Given the description of an element on the screen output the (x, y) to click on. 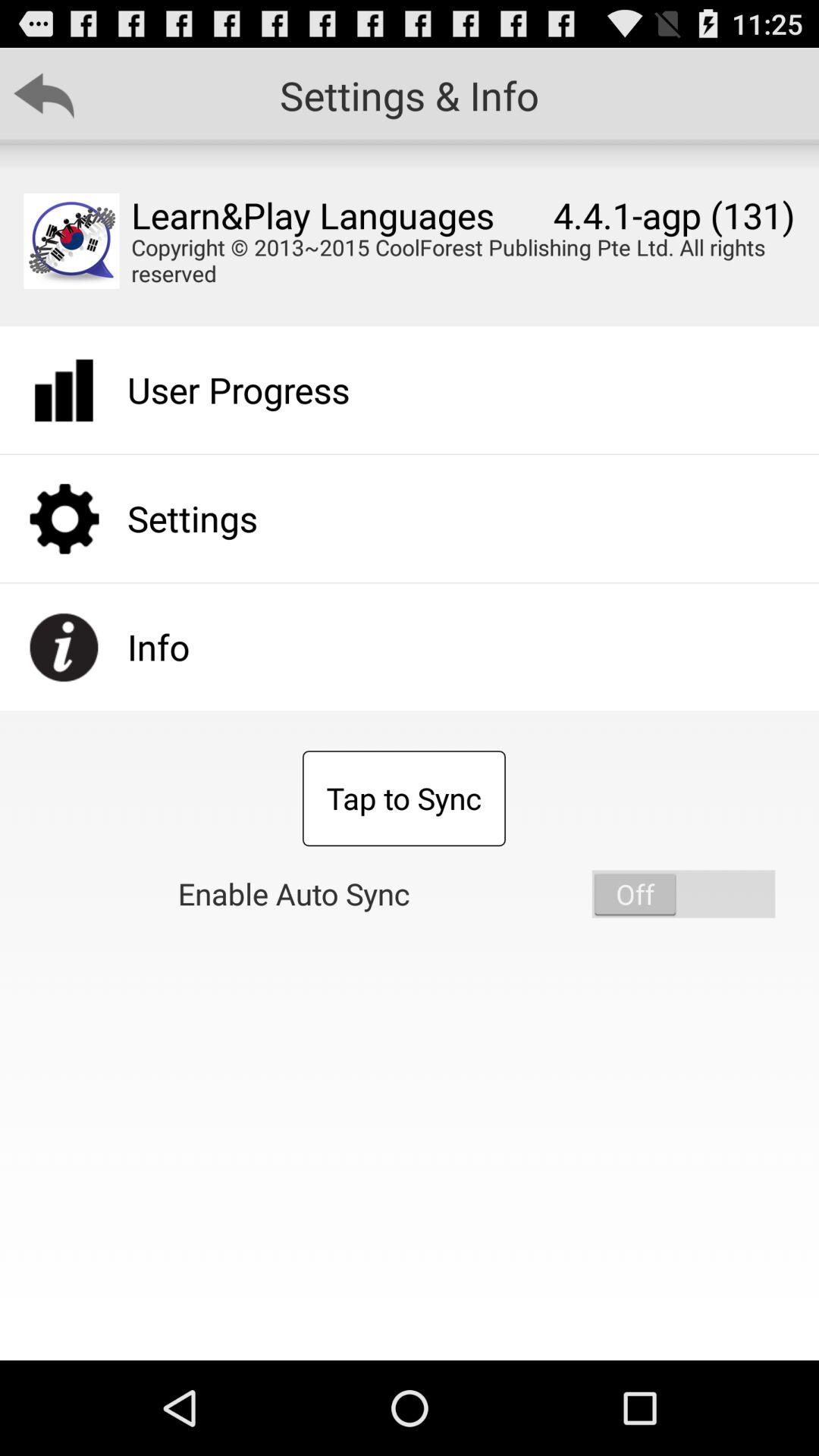
open the icon on the right (683, 893)
